Given the description of an element on the screen output the (x, y) to click on. 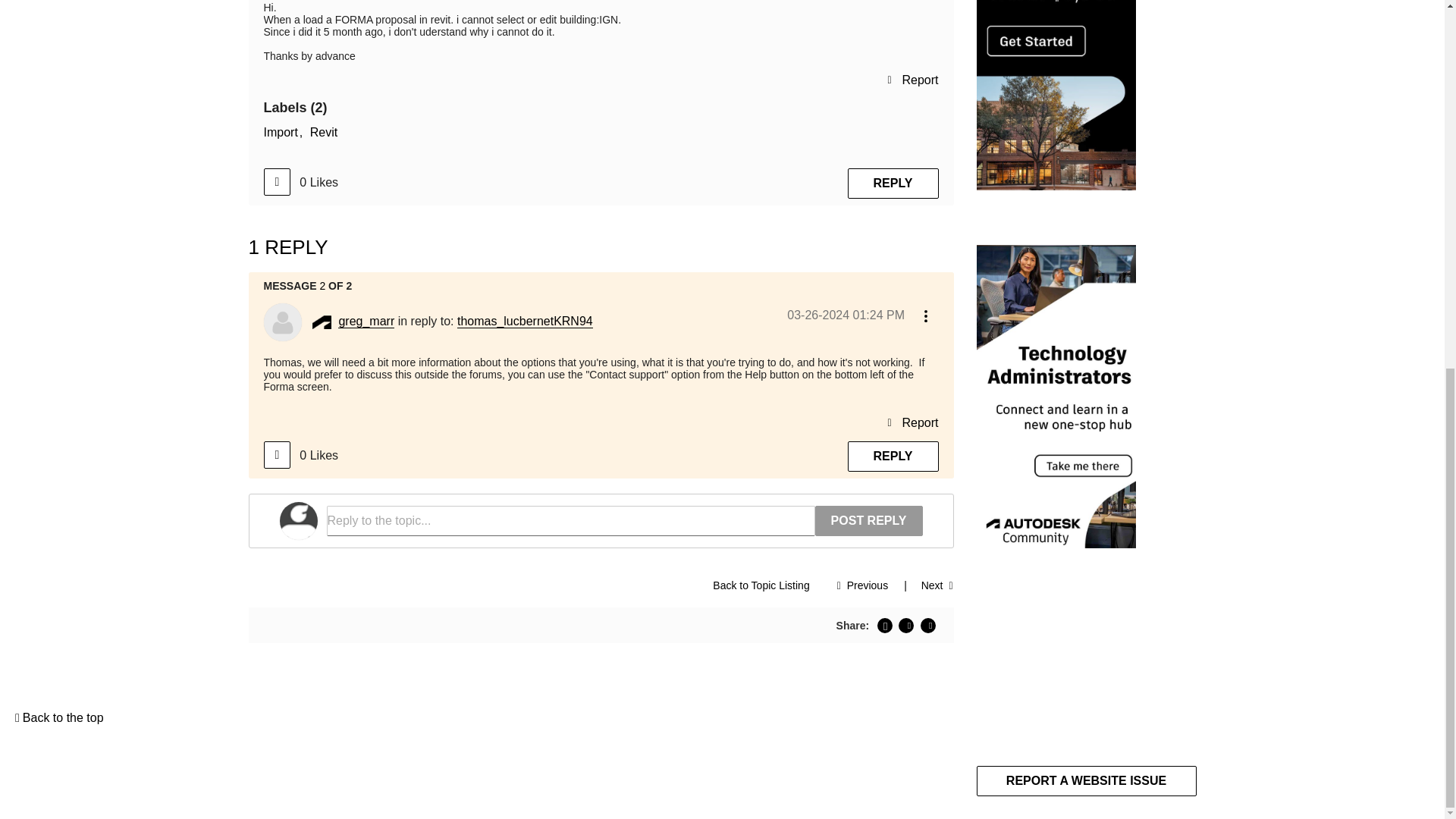
Report (911, 79)
Import (282, 132)
REPLY (893, 183)
Back to the top (59, 717)
Back to the top (59, 717)
Revit (323, 132)
